Given the description of an element on the screen output the (x, y) to click on. 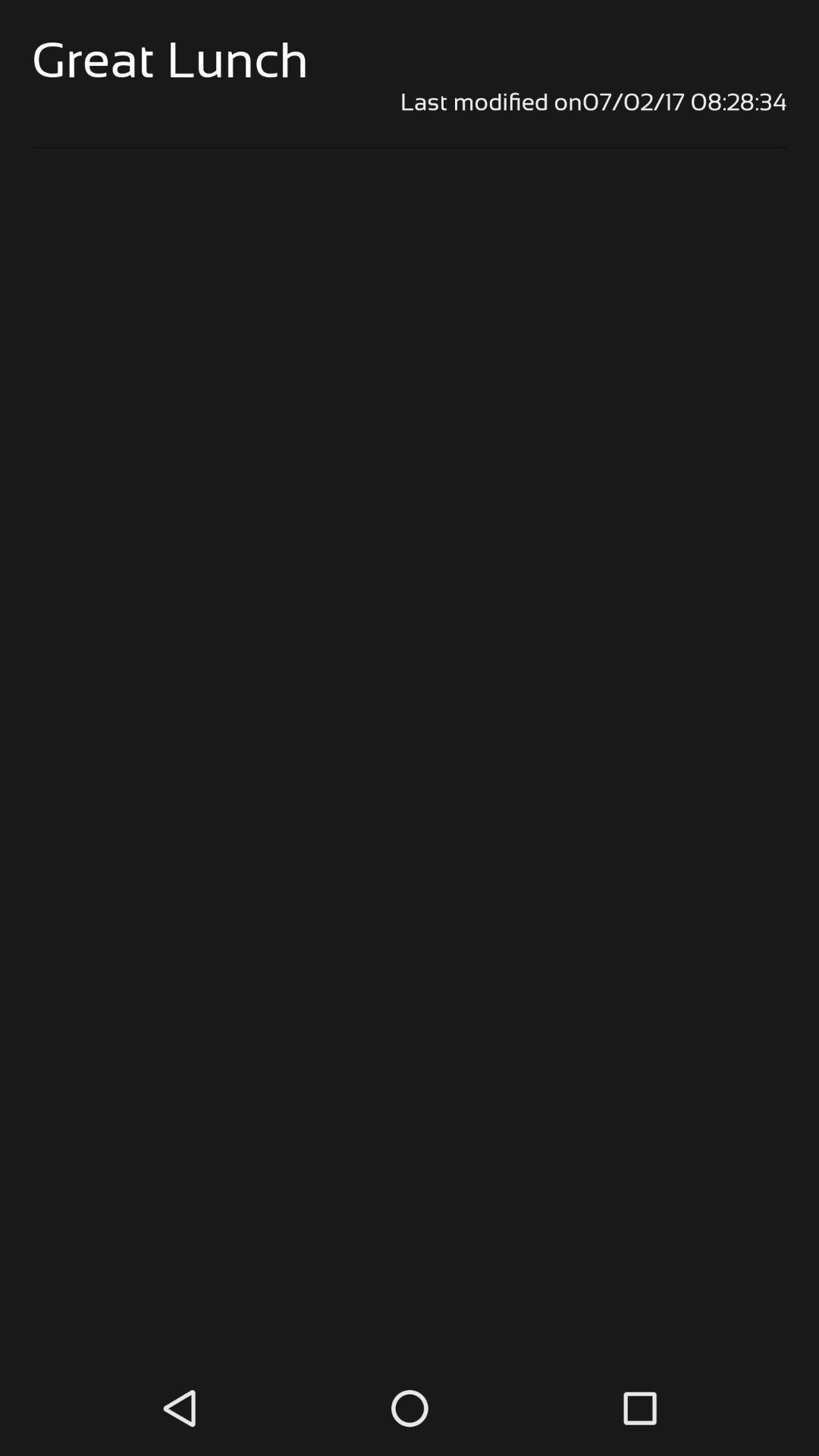
jump to the last modified on07 icon (409, 101)
